Given the description of an element on the screen output the (x, y) to click on. 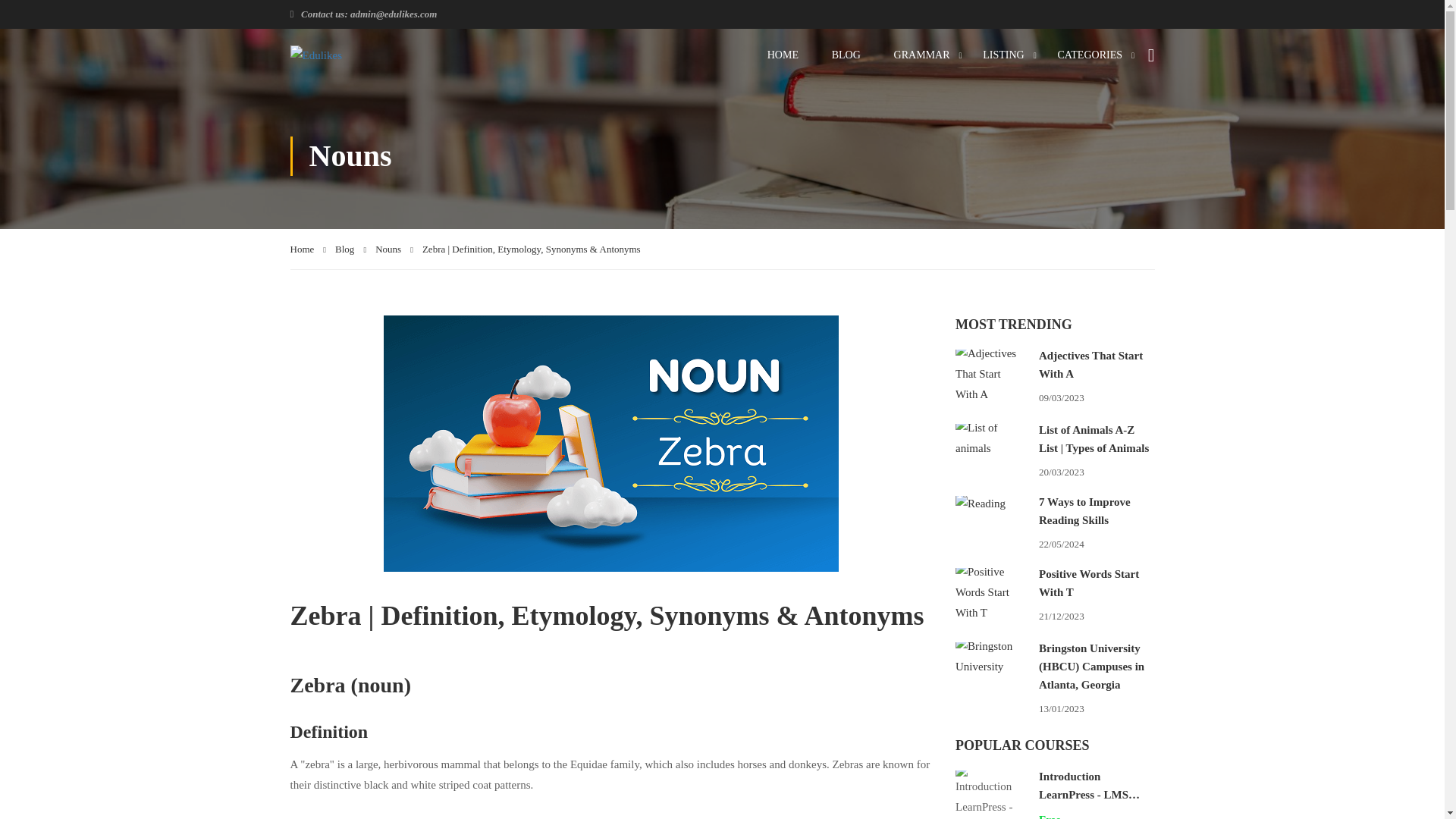
BLOG (846, 54)
GRAMMAR (922, 54)
Edulikes - Education for All (357, 55)
HOME (782, 54)
